Given the description of an element on the screen output the (x, y) to click on. 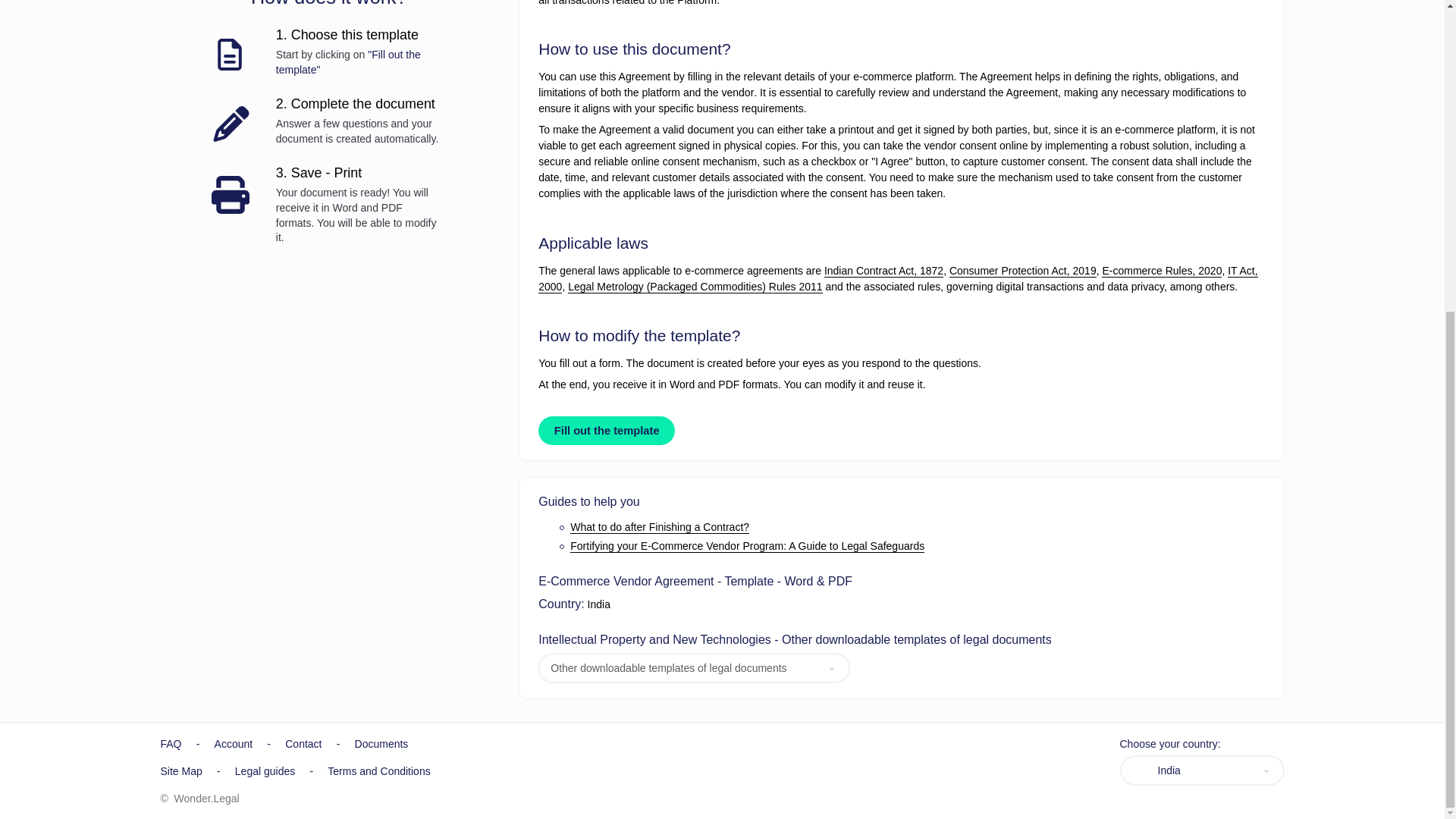
"Fill out the template" (348, 62)
Fill out the template (606, 430)
Indian Contract Act, 1872 (883, 270)
Consumer Protection Act, 2019 (1022, 270)
E-commerce Rules, 2020 (1161, 270)
IT Act, 2000 (897, 278)
What to do after Finishing a Contract? (659, 526)
